Given the description of an element on the screen output the (x, y) to click on. 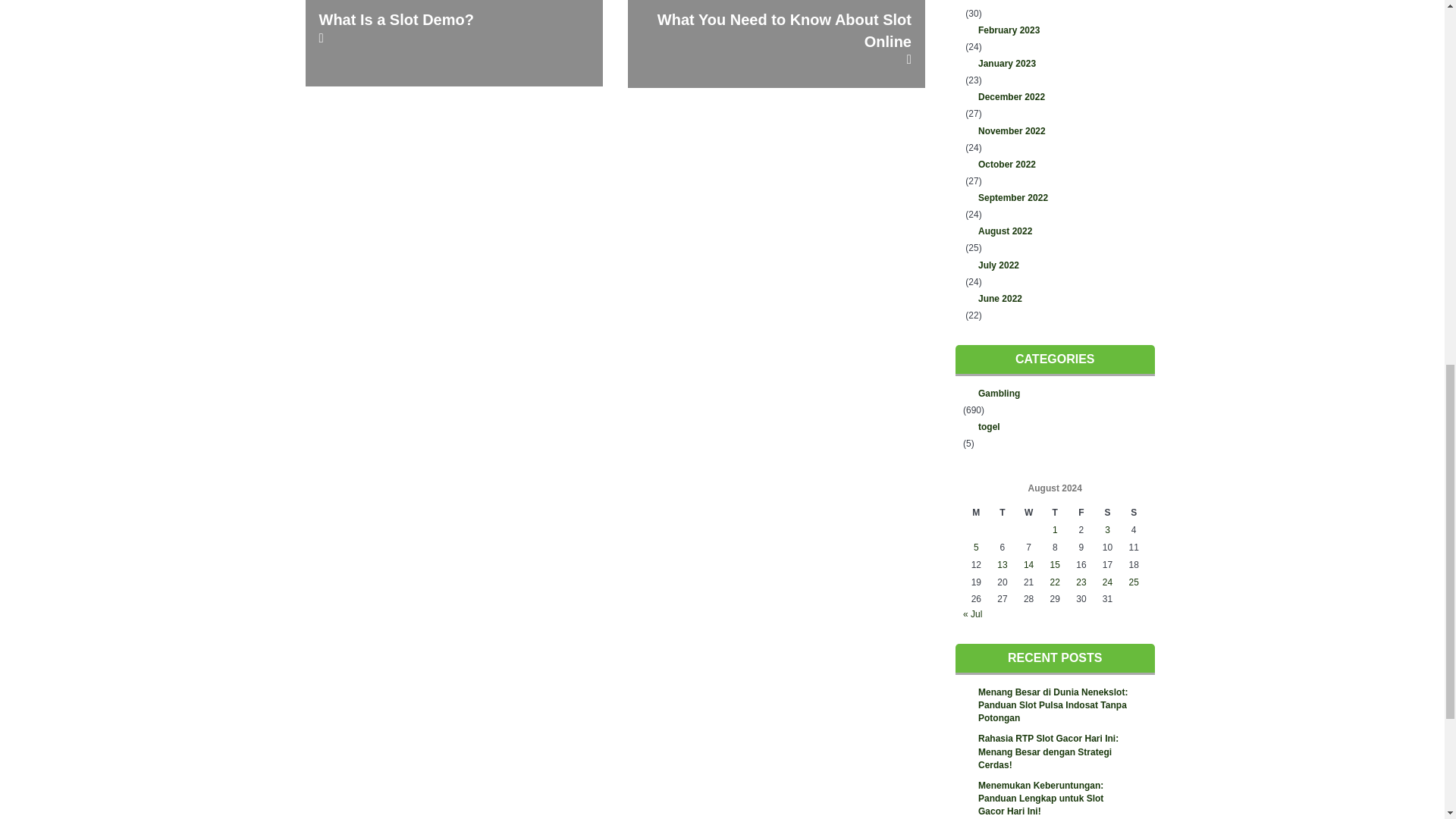
October 2022 (1054, 164)
July 2022 (1054, 265)
togel (1054, 426)
Monday (976, 512)
December 2022 (1054, 96)
March 2023 (1054, 3)
February 2023 (1054, 30)
June 2022 (1054, 299)
January 2023 (1054, 64)
September 2022 (1054, 198)
